Given the description of an element on the screen output the (x, y) to click on. 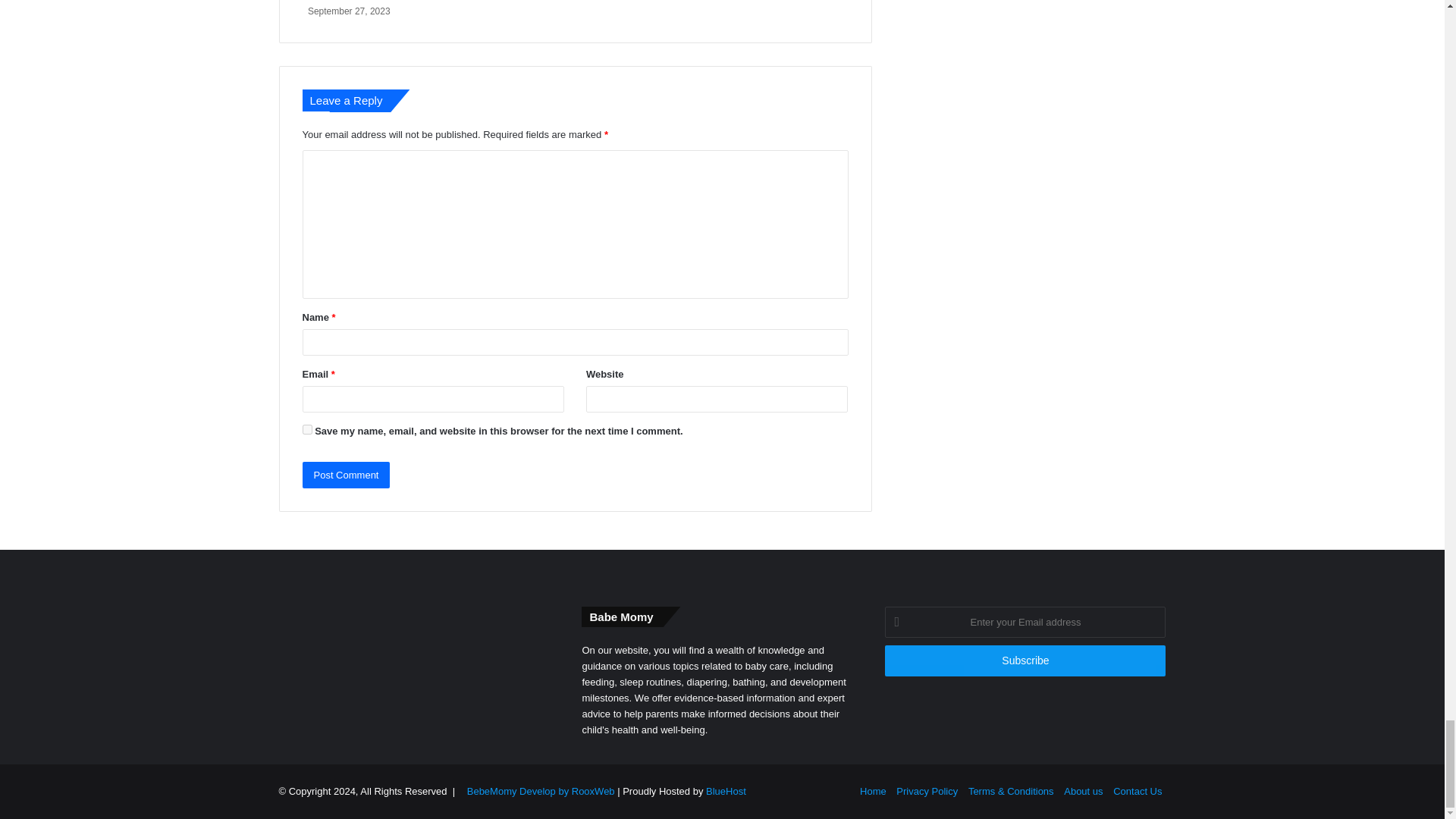
Post Comment (345, 474)
yes (306, 429)
Subscribe (1025, 660)
